Given the description of an element on the screen output the (x, y) to click on. 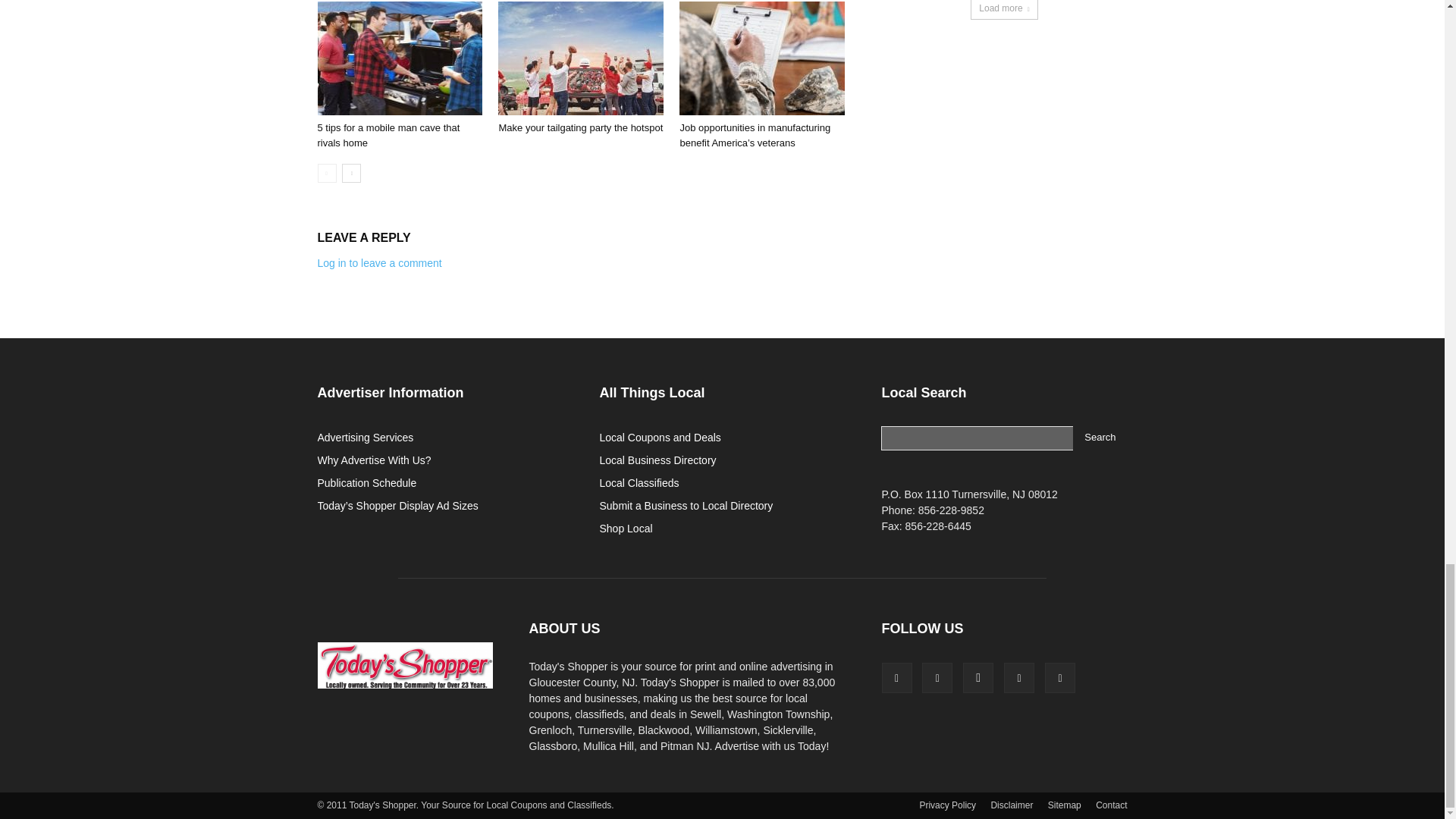
Search (1099, 437)
5 tips for a mobile man cave that rivals home (399, 58)
